Given the description of an element on the screen output the (x, y) to click on. 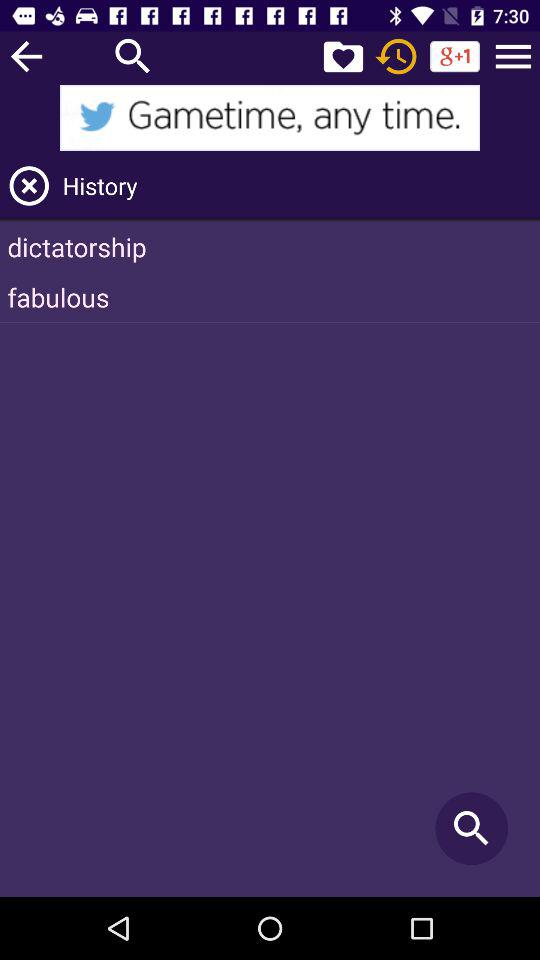
enter twitter text (270, 117)
